Given the description of an element on the screen output the (x, y) to click on. 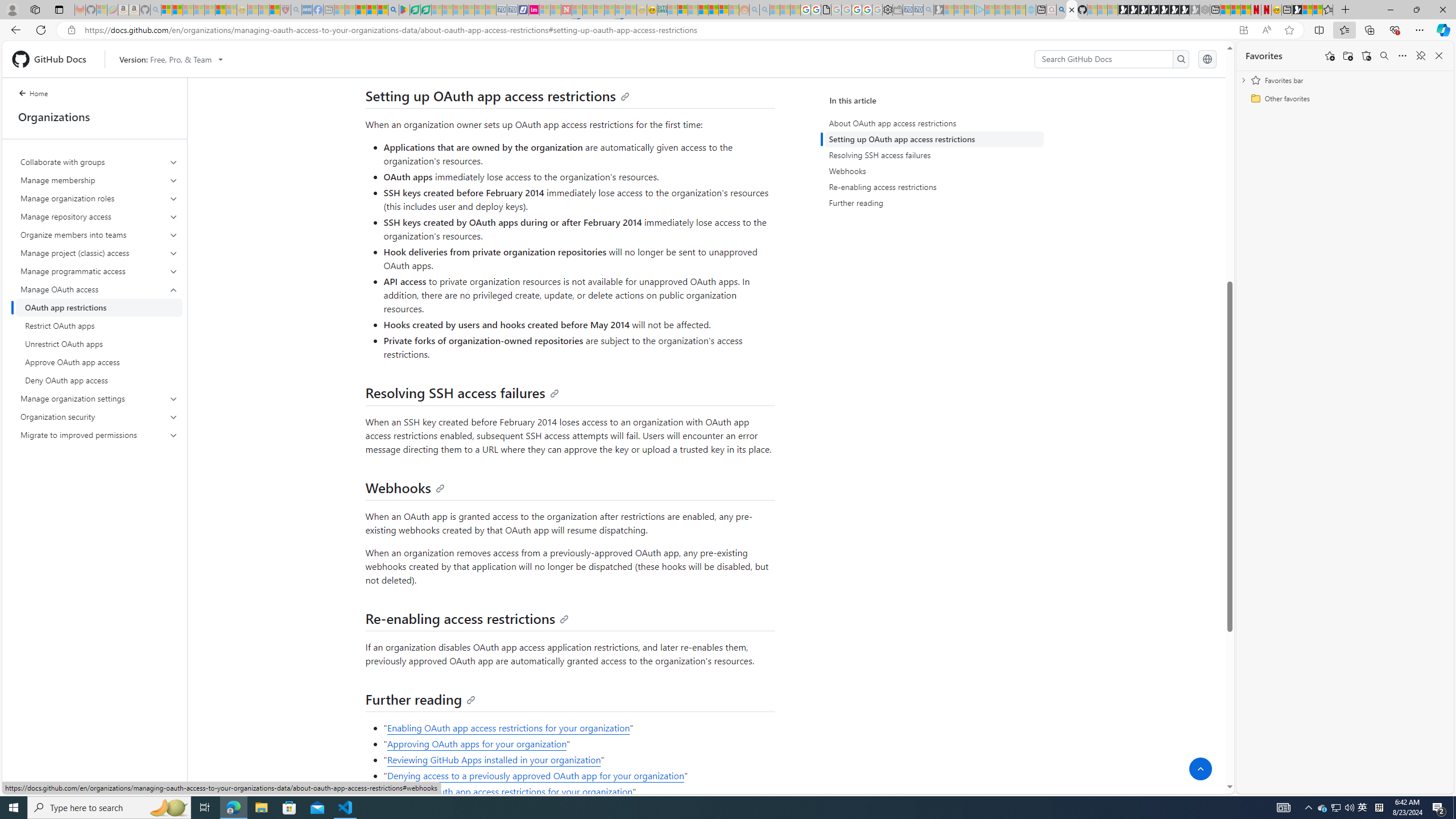
Manage programmatic access (99, 271)
Organization security (99, 416)
Manage OAuth access (99, 334)
Terms of Use Agreement (414, 9)
Kinda Frugal - MSN (713, 9)
